Given the description of an element on the screen output the (x, y) to click on. 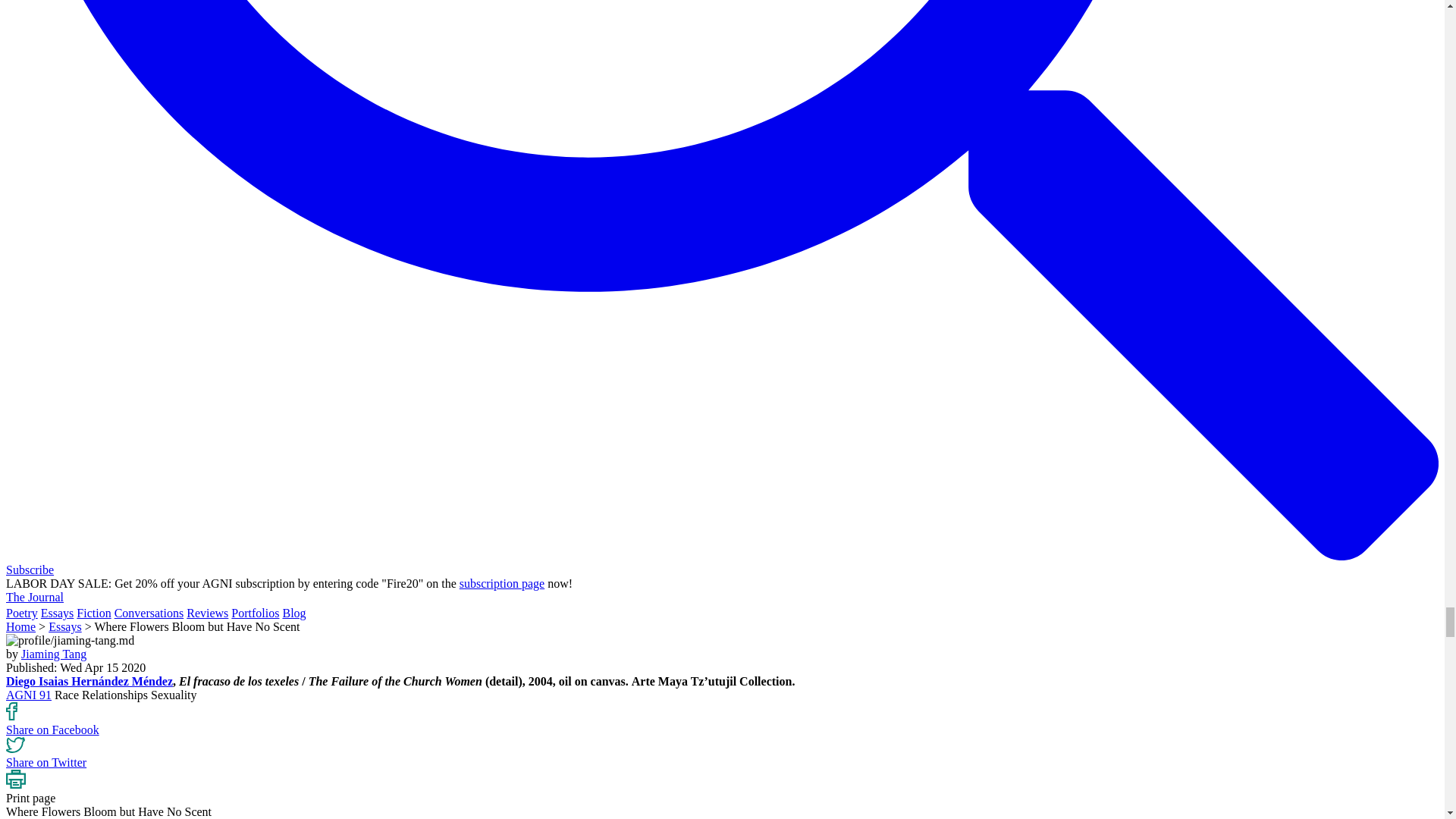
Subscribe (29, 569)
The Journal (34, 596)
Fiction (93, 612)
subscription page (502, 583)
Home (19, 626)
AGNI 91 (27, 694)
Conversations (149, 612)
Reviews (207, 612)
Essays (57, 612)
Poetry (21, 612)
